Given the description of an element on the screen output the (x, y) to click on. 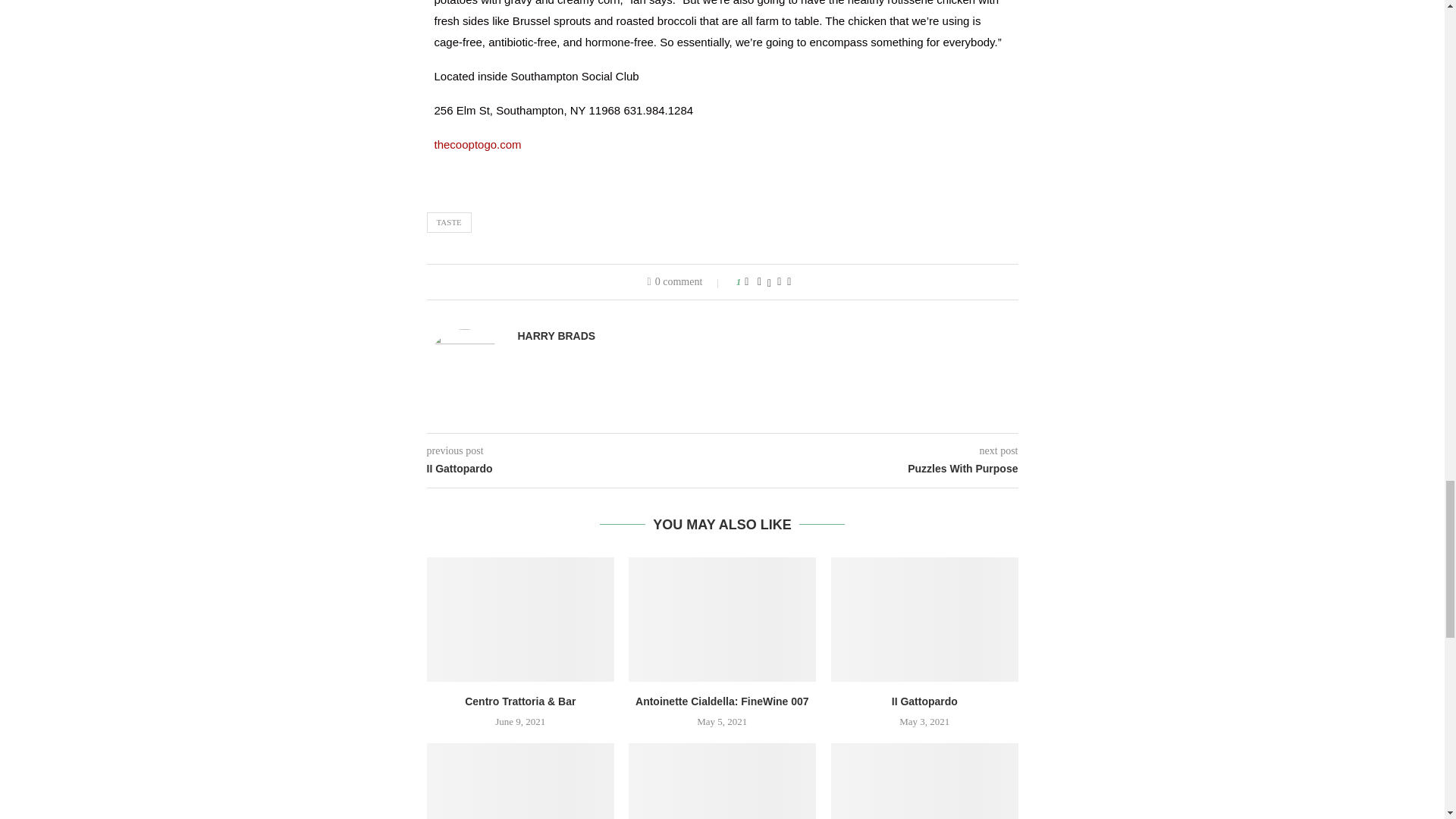
Demarchelier Bistro (721, 780)
Author Harry Brads (555, 336)
thecooptogo.com (477, 144)
II Gattopardo (924, 619)
Ikraa Caviar (519, 780)
Antoinette Cialdella: FineWine 007 (721, 619)
